Given the description of an element on the screen output the (x, y) to click on. 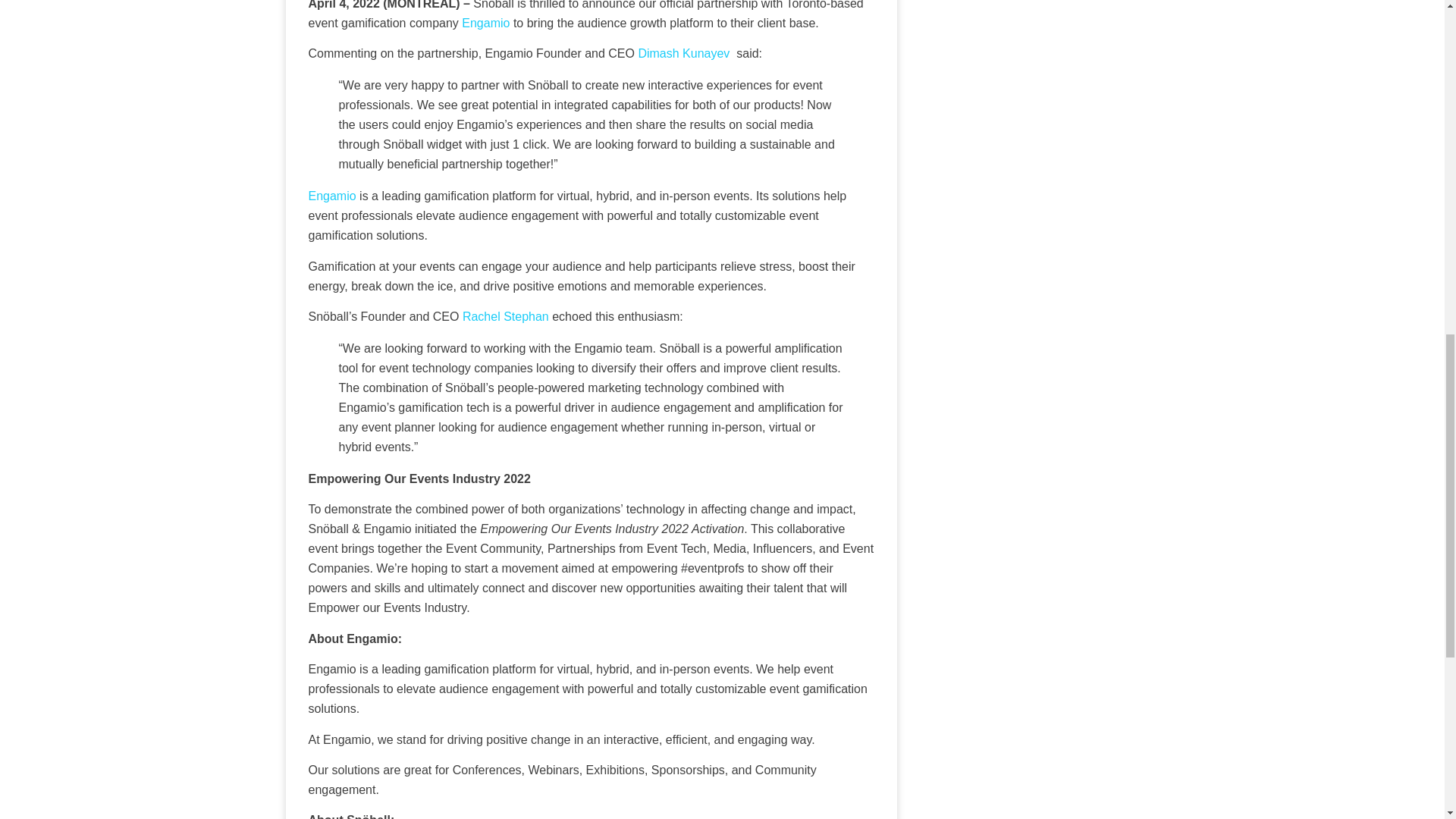
Engamio (333, 195)
Dimash Kunayev (683, 52)
Rachel Stephan (505, 316)
Engamio (487, 22)
